Given the description of an element on the screen output the (x, y) to click on. 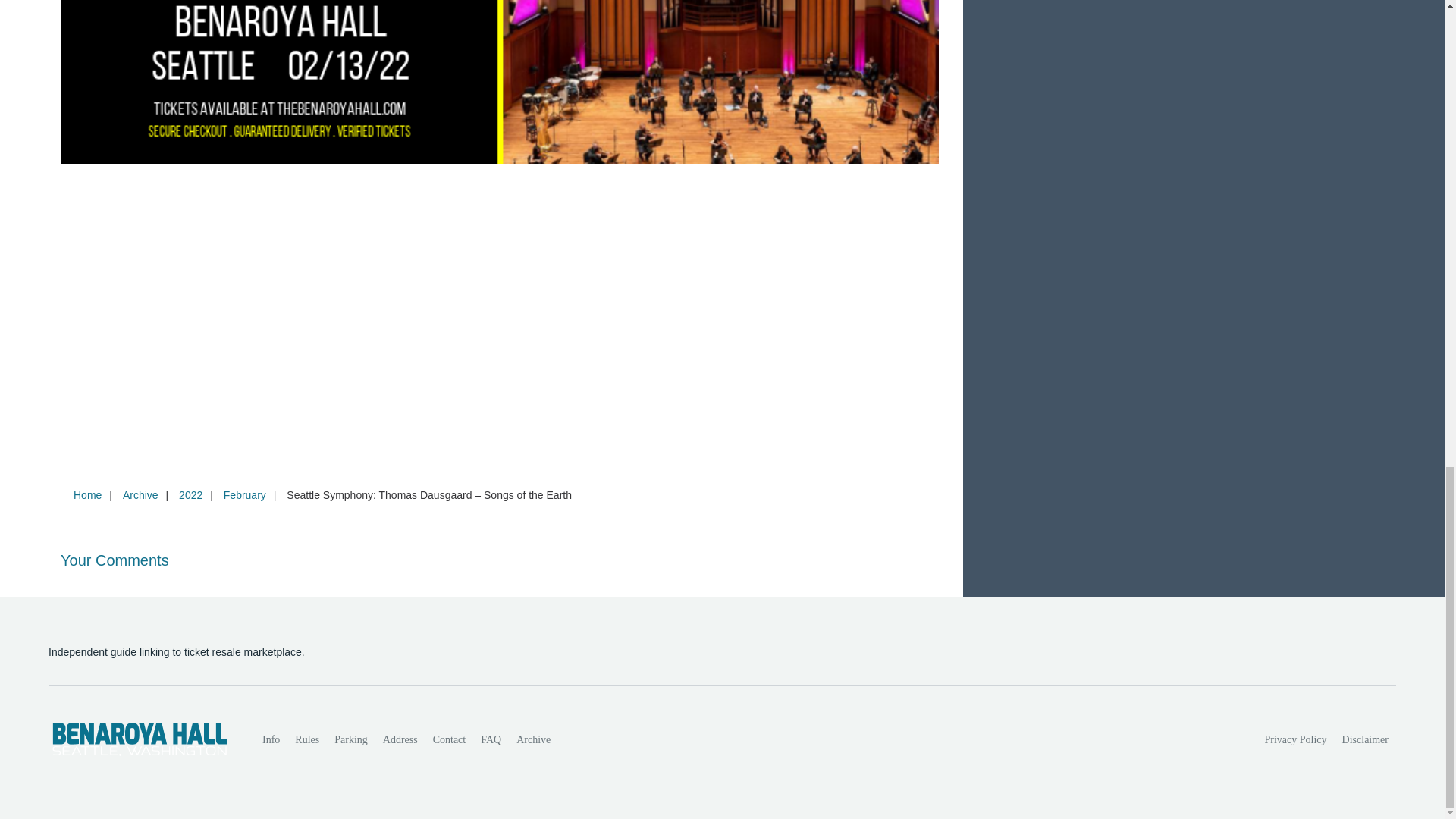
Disclaimer (1365, 739)
Archive (140, 494)
Archive (532, 739)
Address (400, 739)
2022 (190, 494)
Privacy Policy (1296, 739)
Rules (306, 739)
Info (270, 739)
Contact (449, 739)
